Given the description of an element on the screen output the (x, y) to click on. 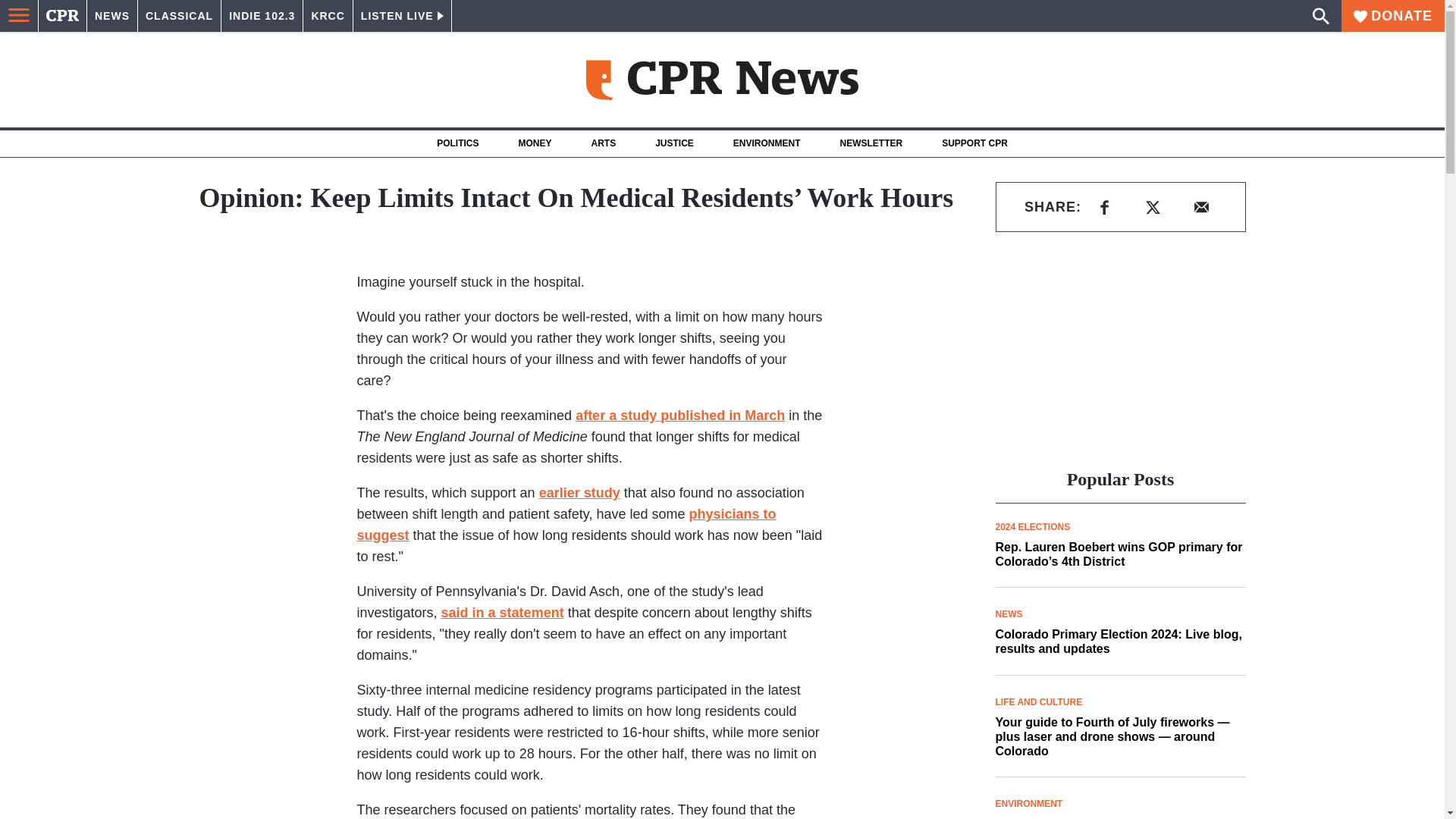
NEWS (111, 15)
CLASSICAL (179, 15)
INDIE 102.3 (261, 15)
KRCC (327, 15)
LISTEN LIVE (402, 15)
